Given the description of an element on the screen output the (x, y) to click on. 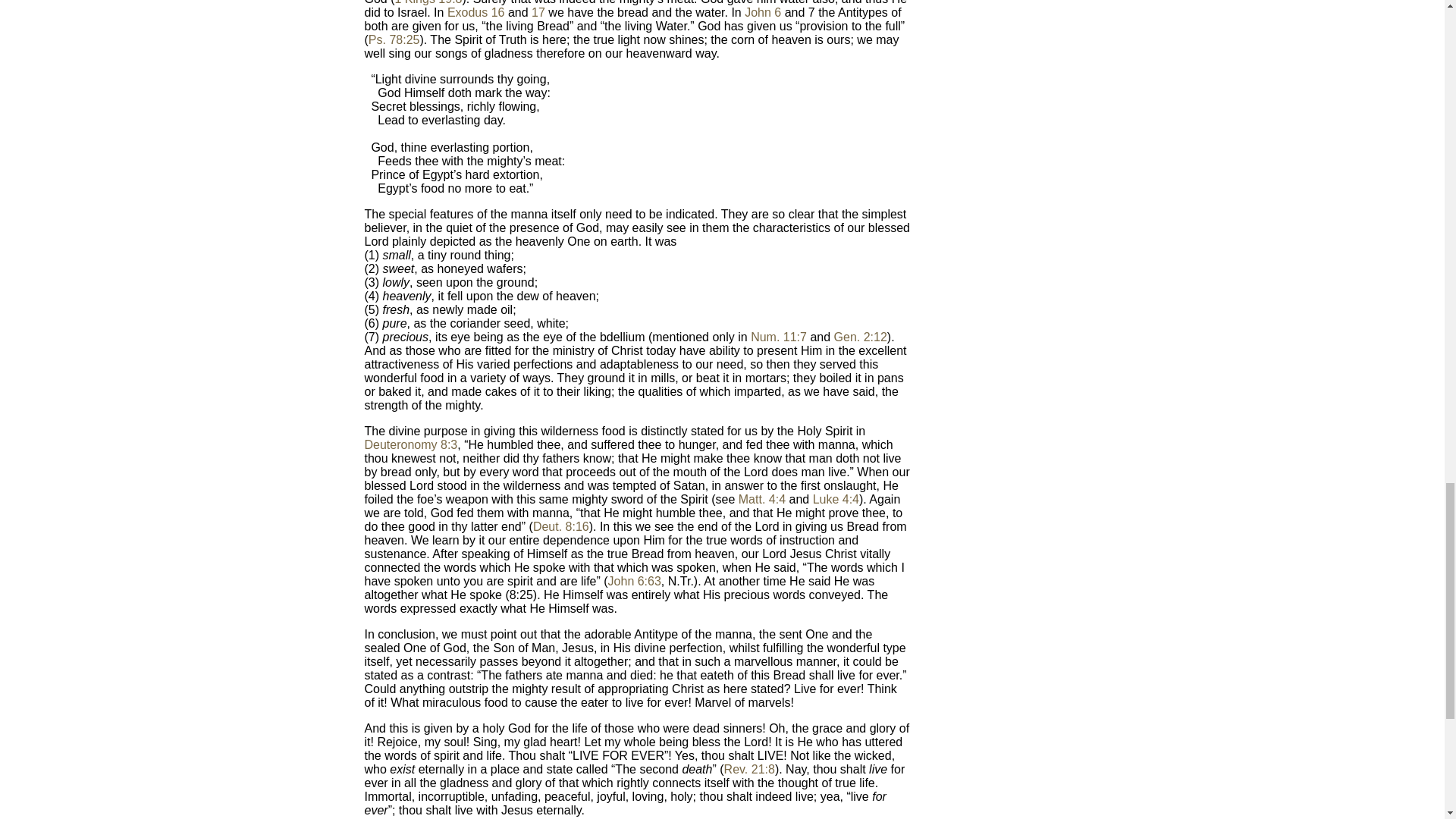
Exodus 16 (475, 11)
1 Kings 19:8 (428, 2)
Deut. 8:16 (560, 526)
John 6:63 (634, 581)
Deuteronomy 8:3 (410, 444)
Ps. 78:25 (394, 39)
17 (537, 11)
